Given the description of an element on the screen output the (x, y) to click on. 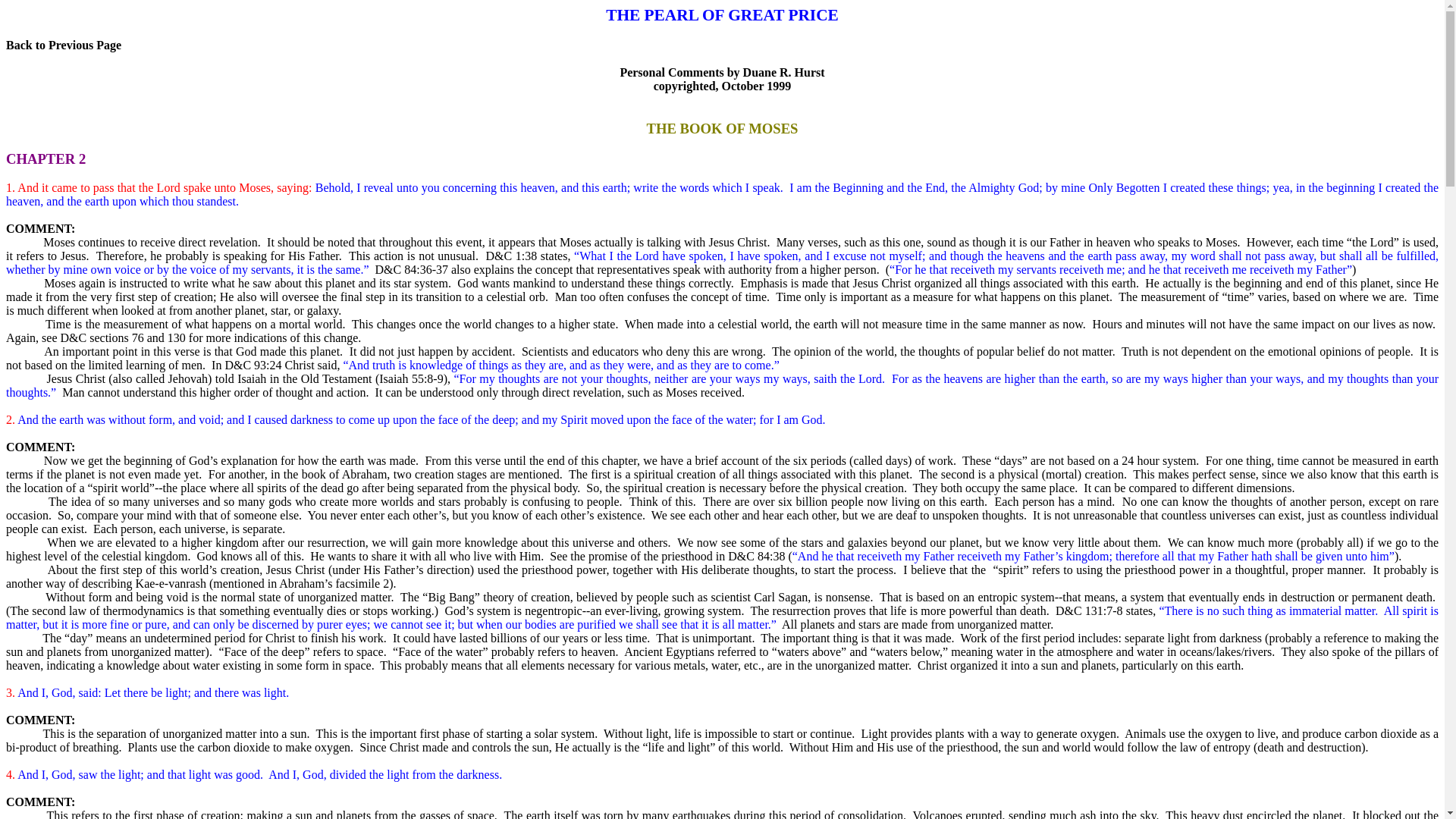
Back to Previous Page (62, 44)
Back to Previous Page (62, 44)
